Given the description of an element on the screen output the (x, y) to click on. 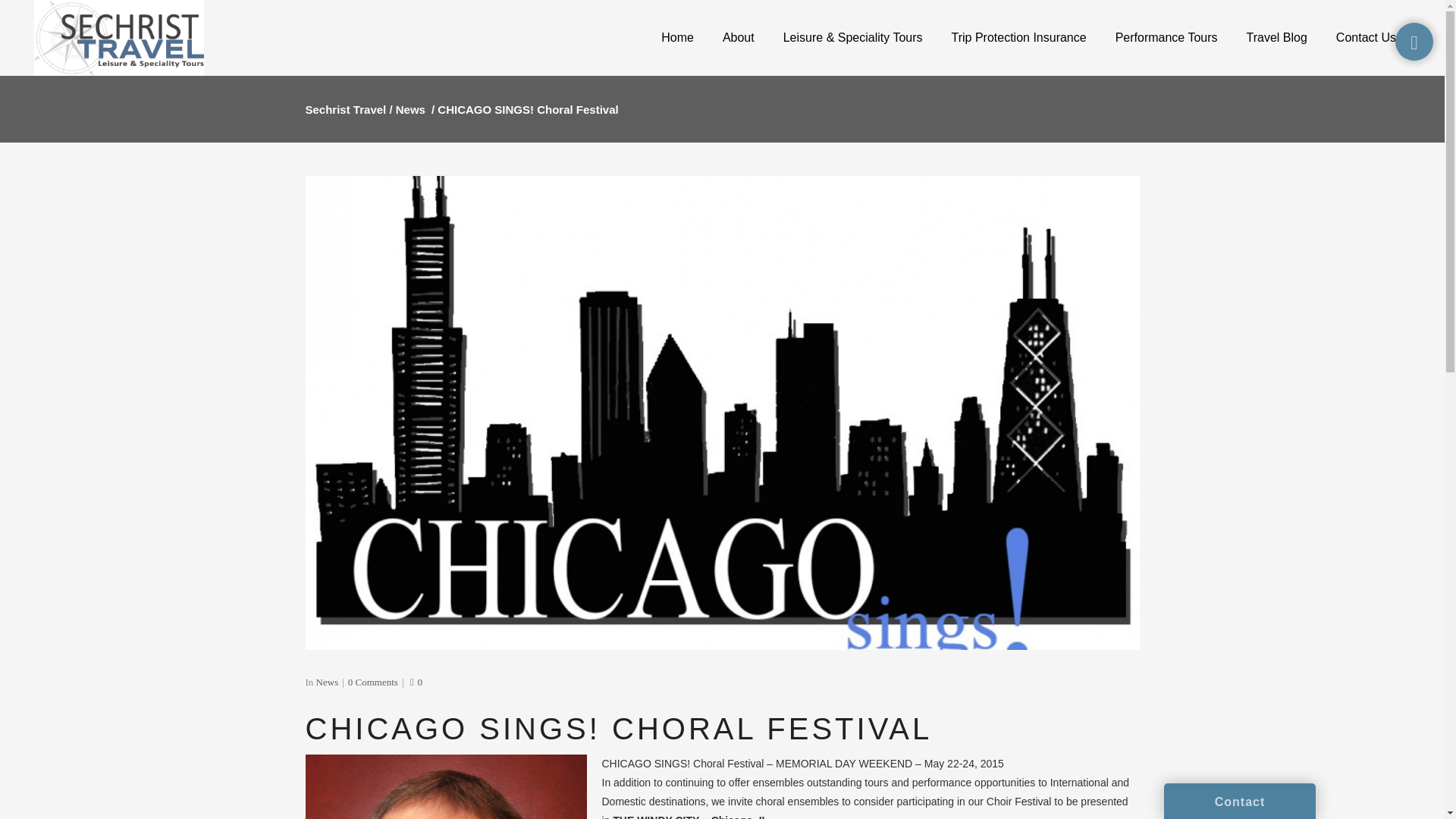
News (410, 109)
Like this (416, 681)
Sechrist Travel (344, 109)
Travel Blog (1276, 38)
Trip Protection Insurance (1018, 38)
Performance Tours (1165, 38)
Contact Us (1366, 38)
